Given the description of an element on the screen output the (x, y) to click on. 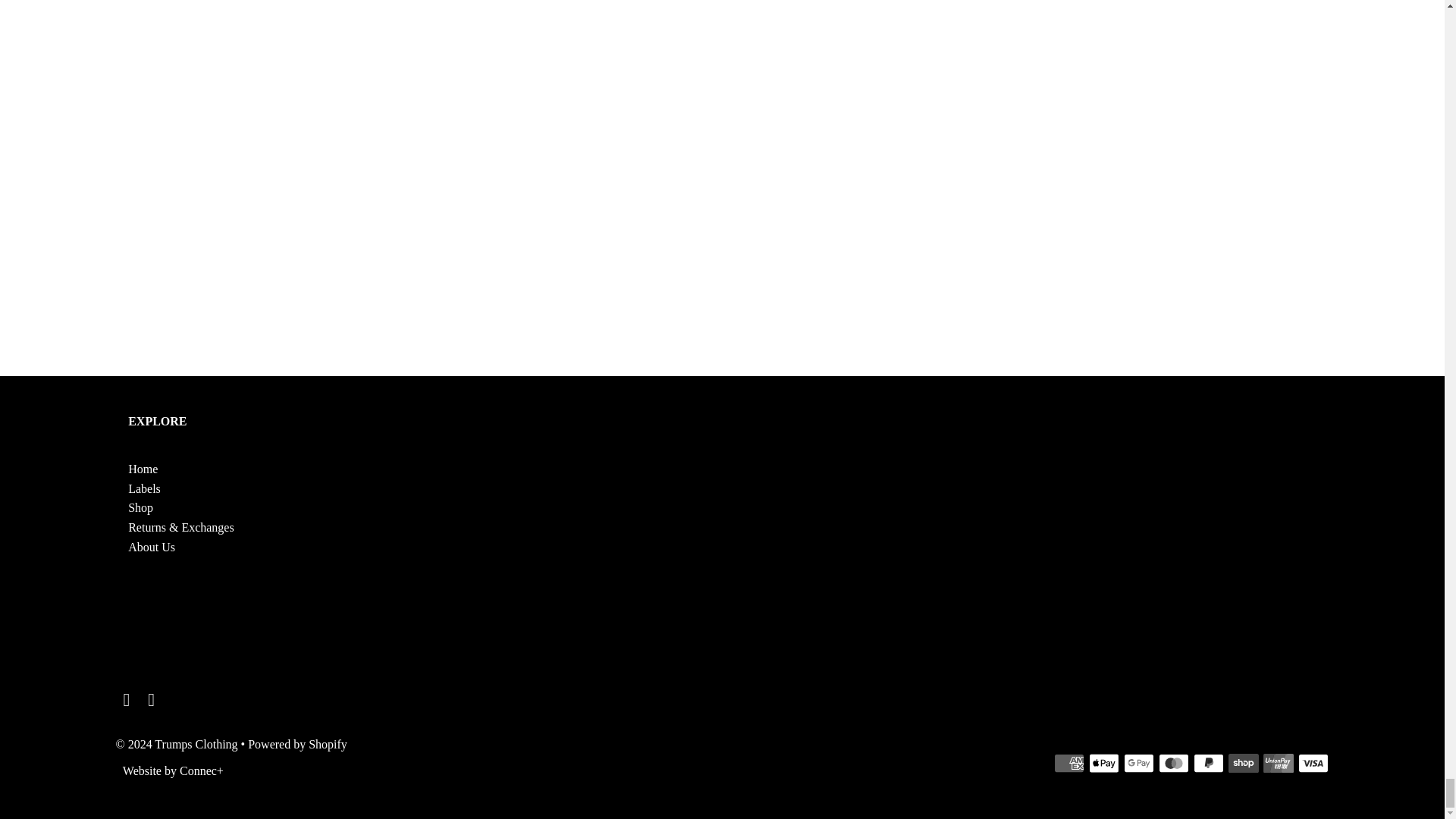
American Express (1069, 763)
Apple Pay (1104, 763)
Union Pay (1278, 763)
Shop Pay (1243, 763)
Visa (1312, 763)
Google Pay (1139, 763)
Mastercard (1173, 763)
PayPal (1208, 763)
